Given the description of an element on the screen output the (x, y) to click on. 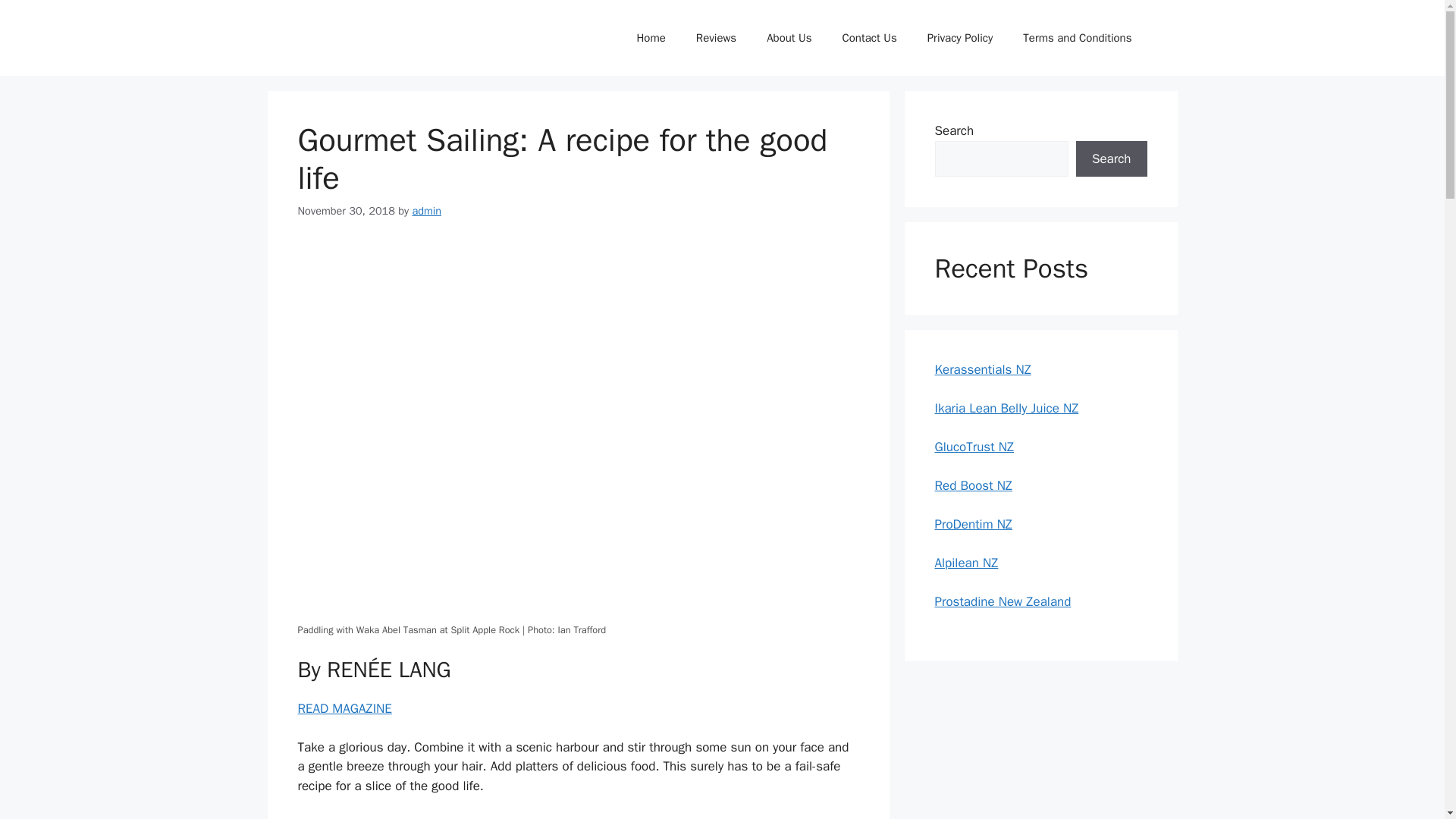
Ikaria Lean Belly Juice NZ (1006, 408)
About Us (789, 37)
Alpilean NZ (965, 562)
READ MAGAZINE (344, 708)
Terms and Conditions (1077, 37)
admin (426, 210)
Reviews (716, 37)
Home (650, 37)
Contact Us (869, 37)
